Given the description of an element on the screen output the (x, y) to click on. 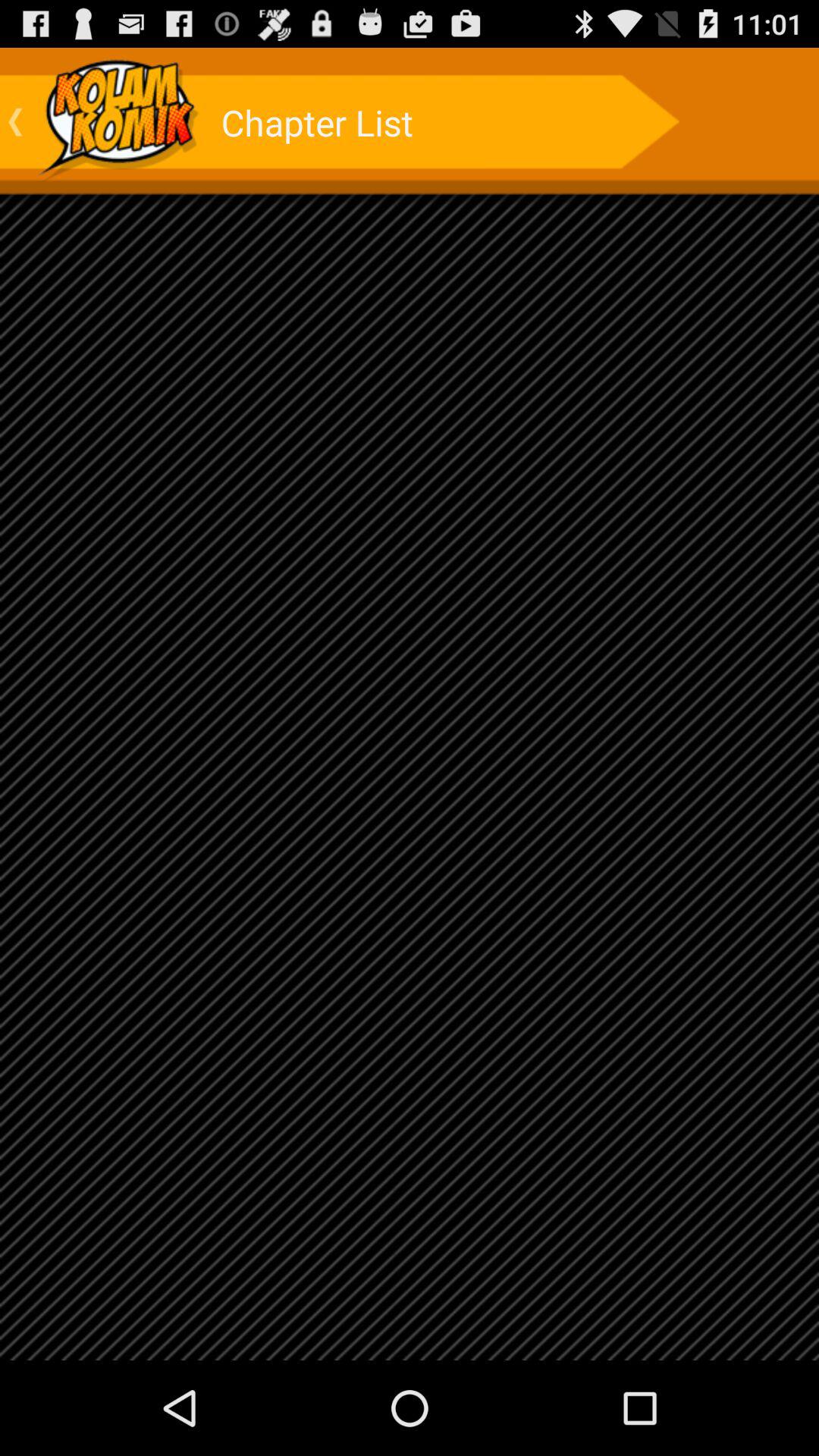
click icon at the center (409, 703)
